Given the description of an element on the screen output the (x, y) to click on. 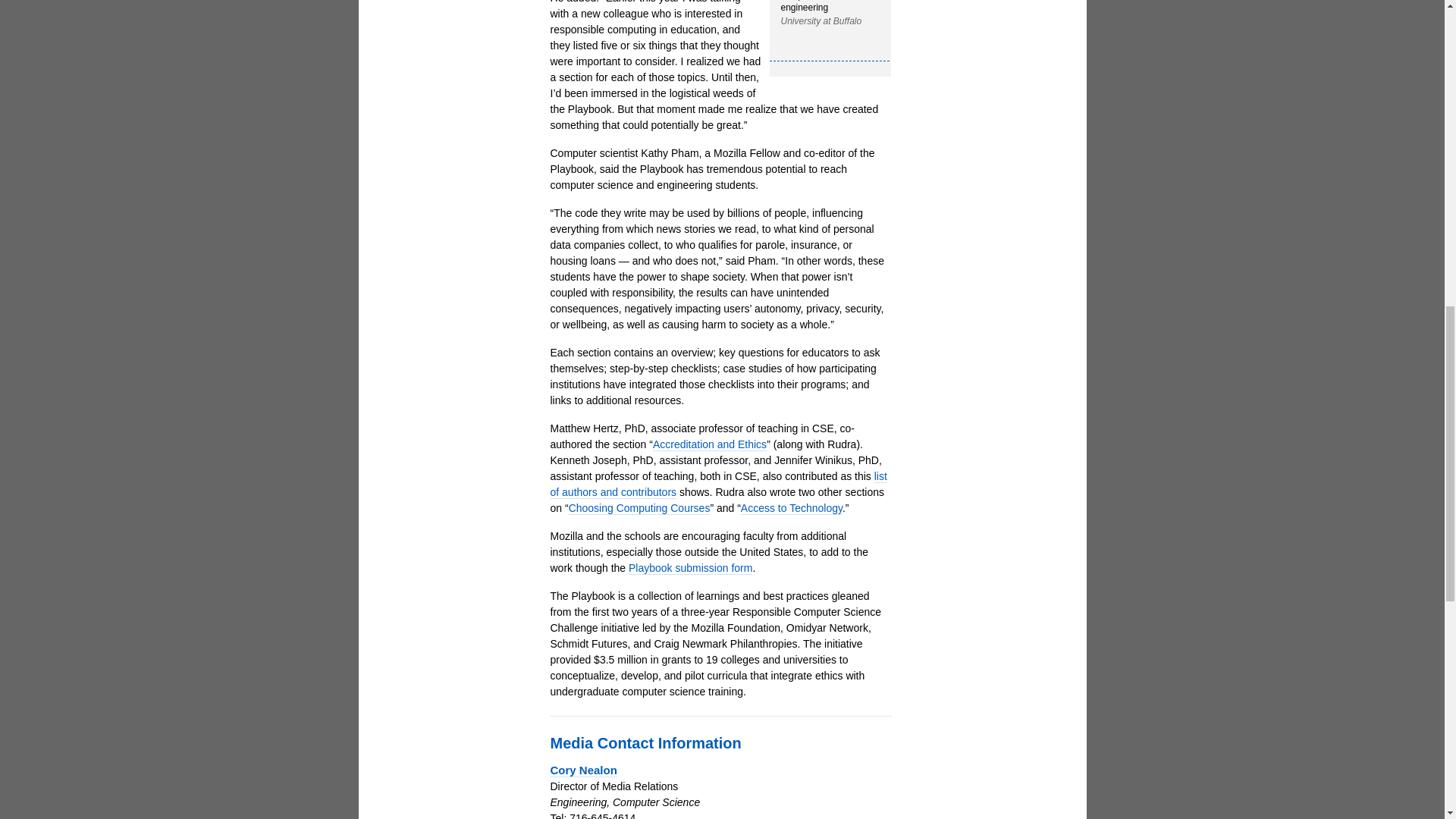
Cory Nealon (583, 770)
Access to Technology (792, 508)
list of authors and contributors (718, 484)
Accreditation and Ethics (709, 444)
Choosing Computing Courses (639, 508)
Playbook submission form (690, 567)
